Given the description of an element on the screen output the (x, y) to click on. 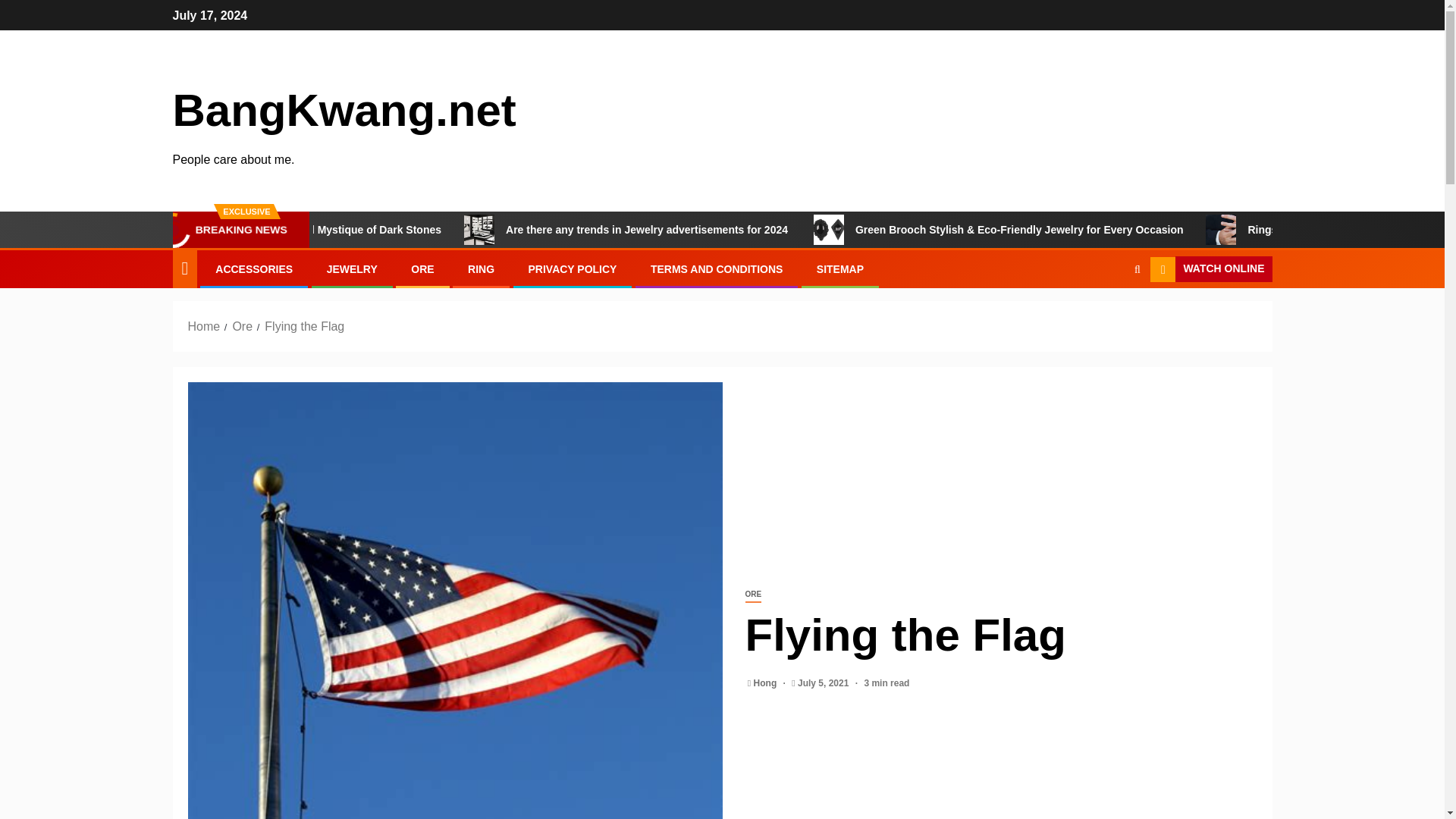
Ore (241, 326)
The Allure and Mystique of Dark Stones (445, 229)
BangKwang.net (344, 110)
Are there any trends in Jewelry advertisements for 2024  (749, 229)
JEWELRY (351, 268)
TERMS AND CONDITIONS (716, 268)
Flying the Flag (303, 326)
ORE (752, 594)
RING (481, 268)
ORE (421, 268)
Hong (766, 683)
Search (1107, 315)
SITEMAP (839, 268)
ACCESSORIES (253, 268)
